Given the description of an element on the screen output the (x, y) to click on. 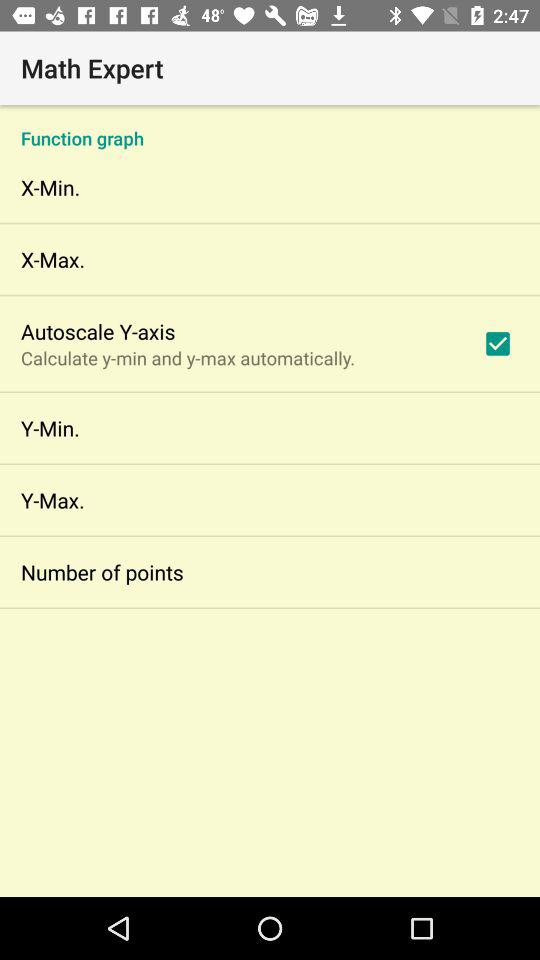
turn on number of points item (102, 572)
